Given the description of an element on the screen output the (x, y) to click on. 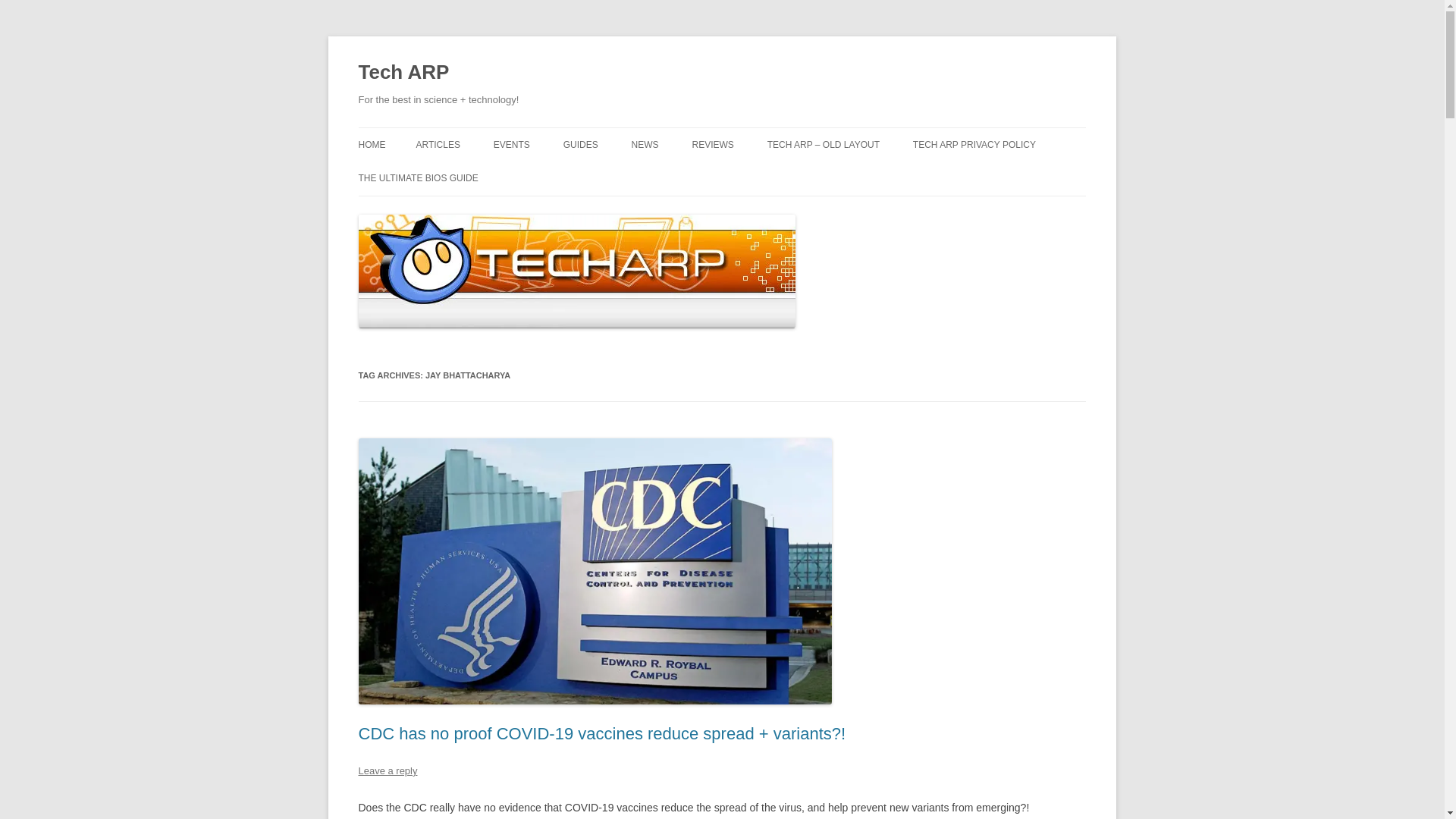
ARTICLES (437, 144)
REVIEWS (712, 144)
THE ULTIMATE BIOS GUIDE (417, 177)
Leave a reply (387, 770)
GUIDES (580, 144)
Tech ARP (403, 72)
EVENTS (511, 144)
TECH ARP PRIVACY POLICY (973, 144)
